Given the description of an element on the screen output the (x, y) to click on. 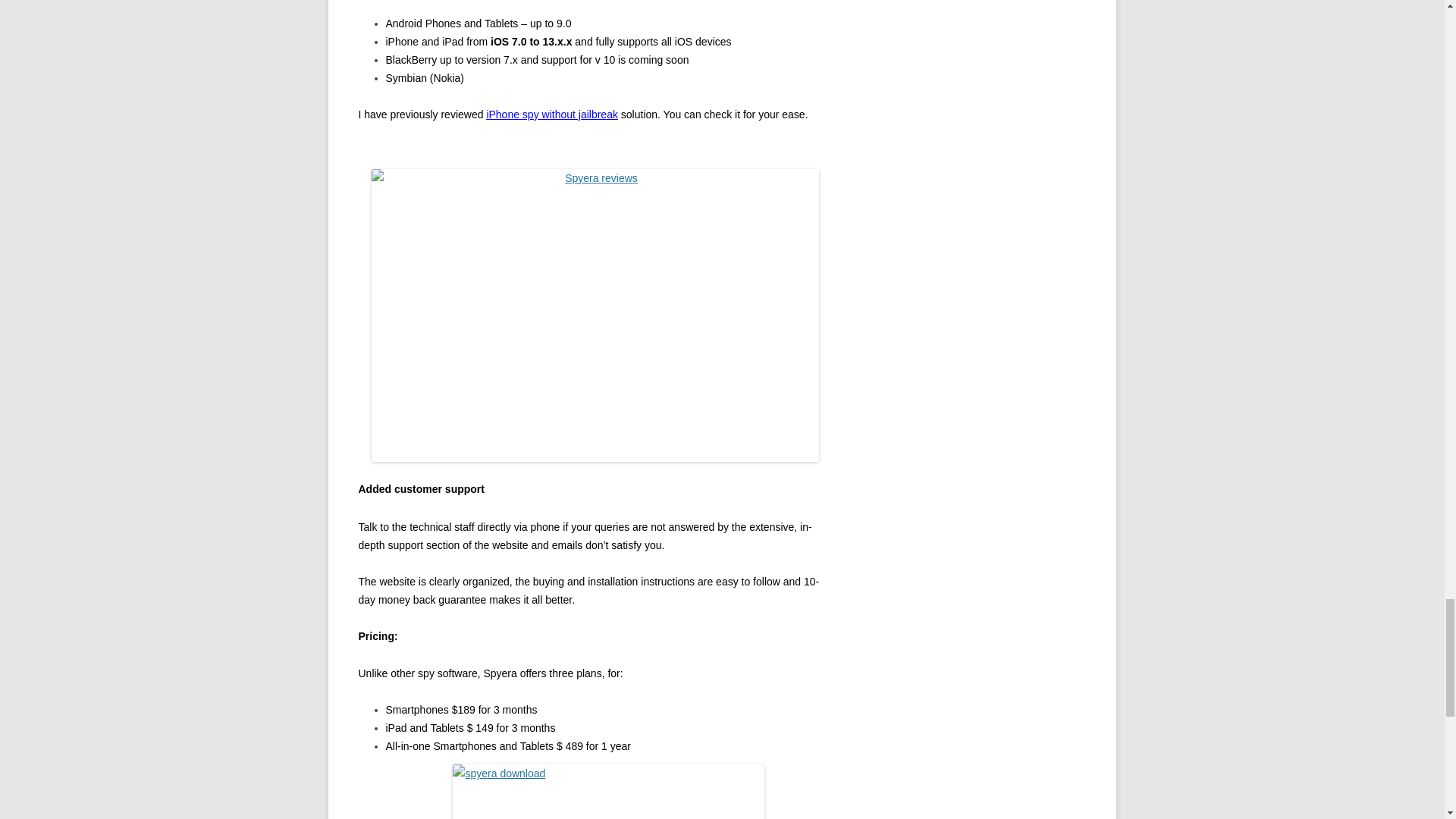
iphone spy without jailbreak (551, 114)
spyera website (608, 791)
iPhone spy without jailbreak (551, 114)
